Given the description of an element on the screen output the (x, y) to click on. 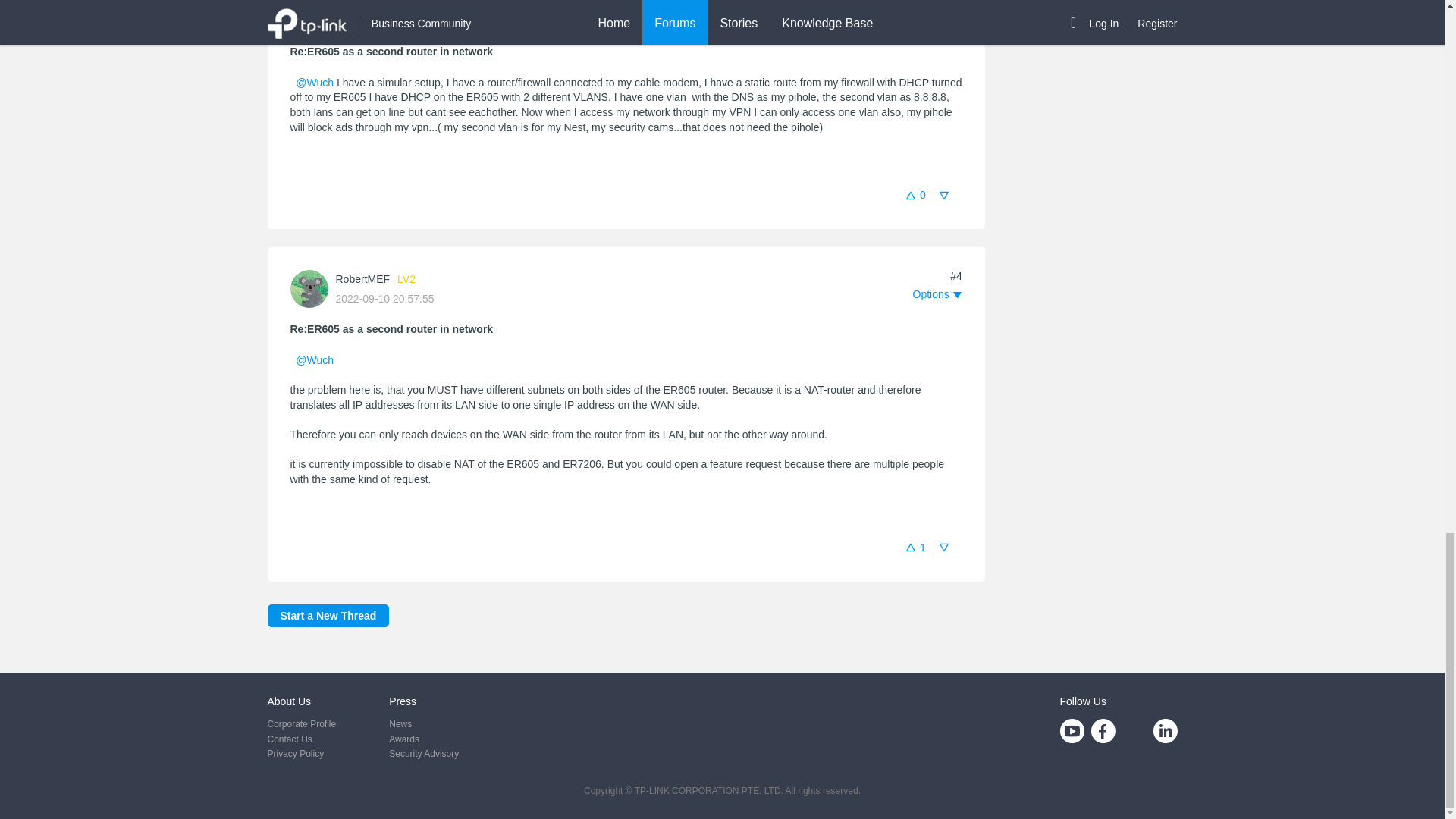
RobertMEF (362, 278)
KLX (344, 3)
